Given the description of an element on the screen output the (x, y) to click on. 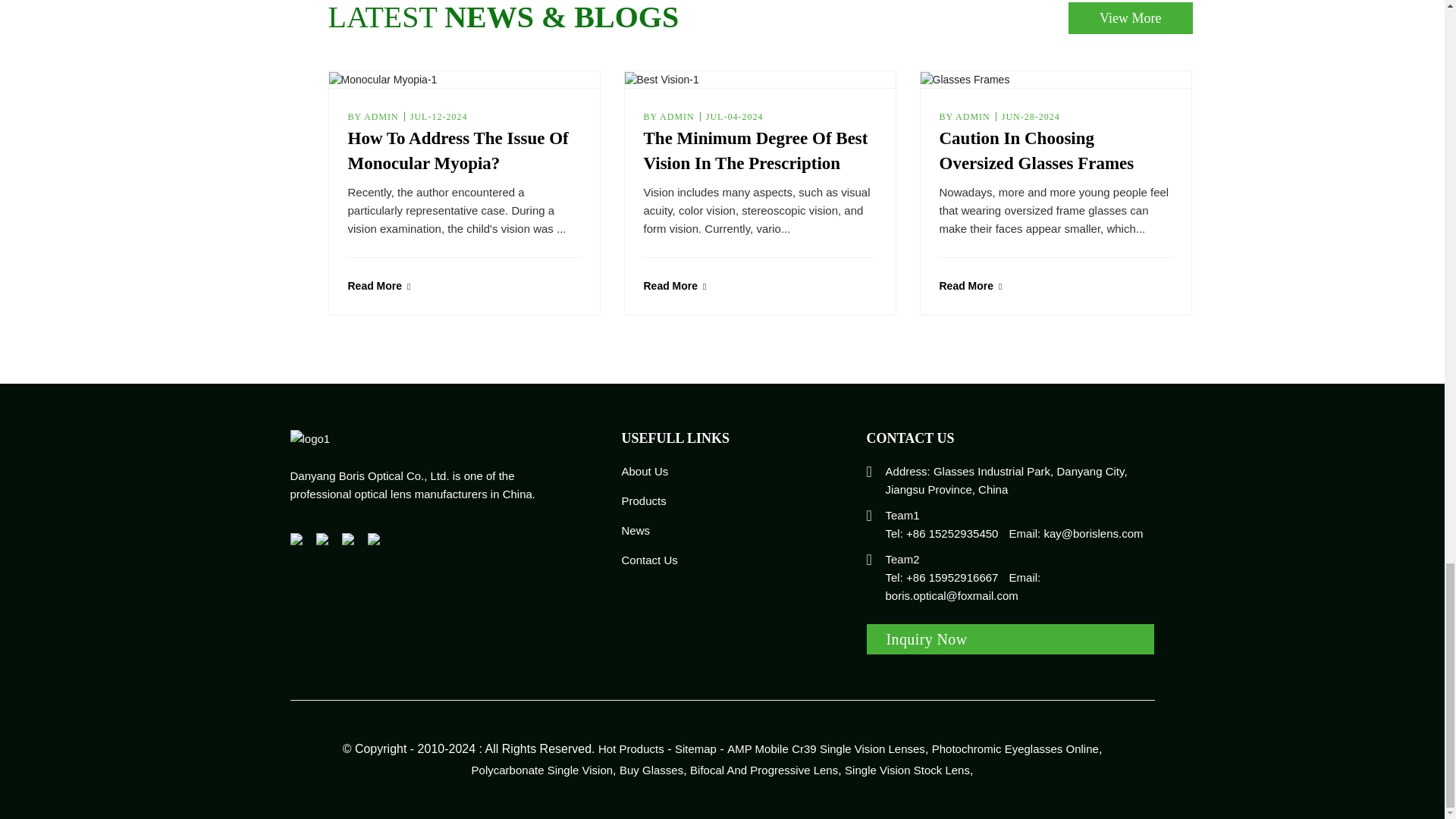
Cr39 Single Vision Lenses (858, 749)
Polycarbonate Single Vision (541, 770)
Buy Glasses (651, 770)
Photochromic Eyeglasses Online (1015, 749)
Single Vision Stock Lens (906, 770)
Bifocal And Progressive Lens (764, 770)
